Given the description of an element on the screen output the (x, y) to click on. 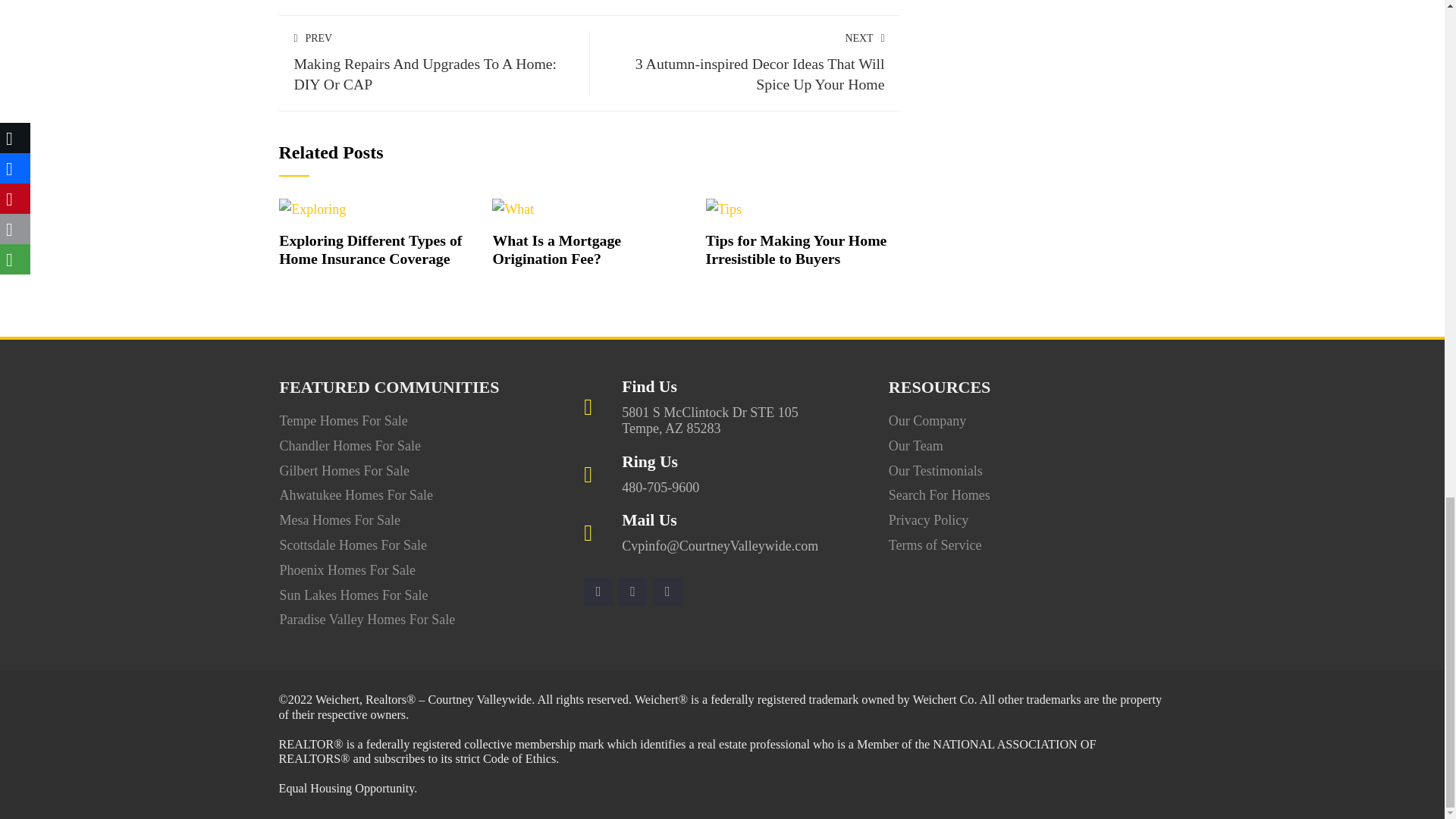
Sun Lakes Homes For Sale (353, 595)
Paradise Valley Homes For Sale (367, 619)
Gilbert Homes For Sale (344, 470)
Tips for Making Your Home Irresistible to Buyers (796, 248)
What Is a Mortgage Origination Fee? (513, 208)
Tips for Making Your Home Irresistible to Buyers (723, 208)
Exploring Different Types of Home Insurance Coverage (312, 208)
Chandler Homes For Sale (349, 445)
Exploring Different Types of Home Insurance Coverage (370, 248)
Tips for Making Your Home Irresistible to Buyers (796, 248)
Phoenix Homes For Sale (347, 570)
Tempe Homes For Sale (434, 61)
Exploring Different Types of Home Insurance Coverage (343, 420)
What Is a Mortgage Origination Fee? (370, 248)
